Given the description of an element on the screen output the (x, y) to click on. 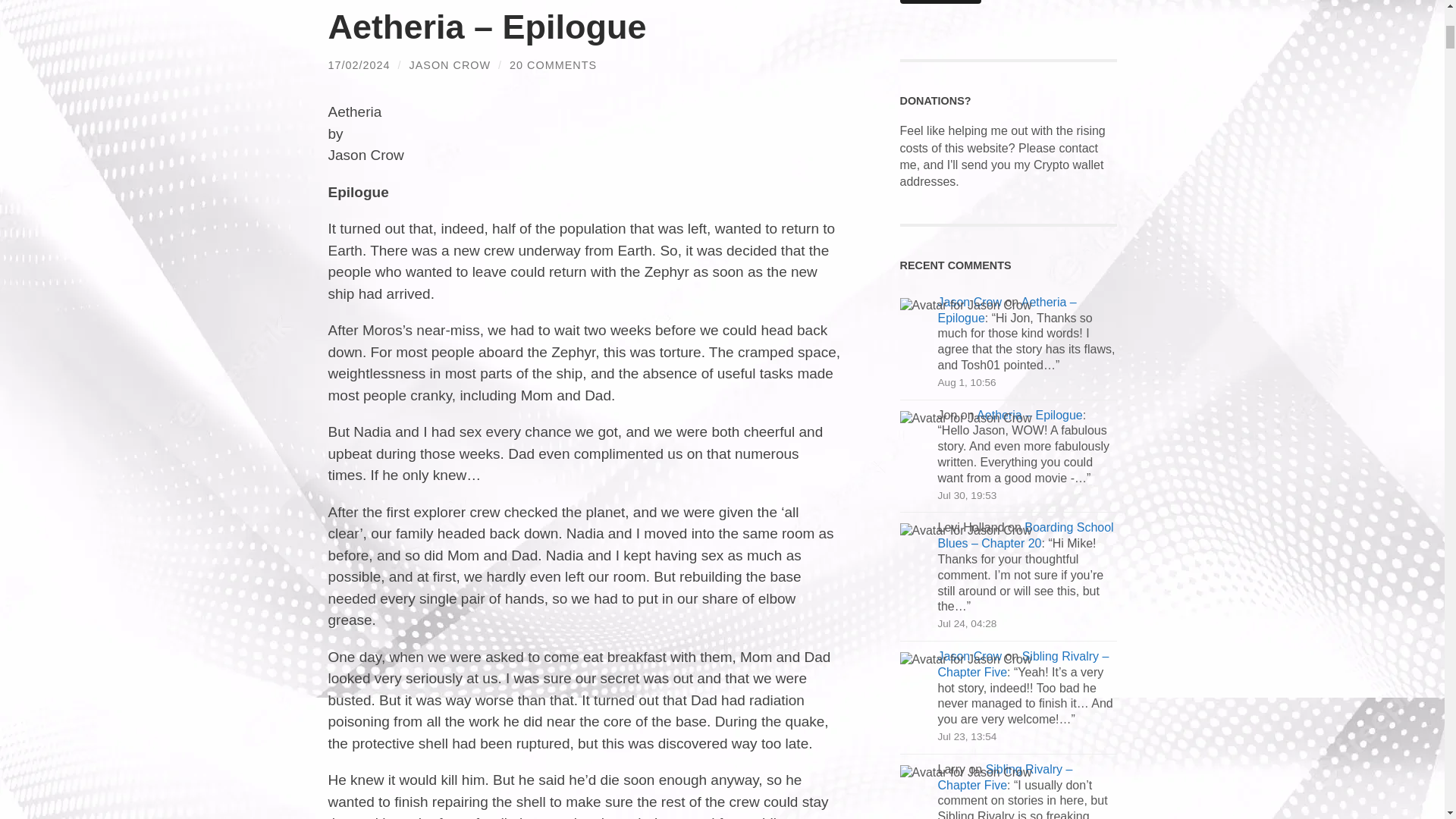
Subscribe (939, 2)
Posts by Jason Crow (450, 64)
